Given the description of an element on the screen output the (x, y) to click on. 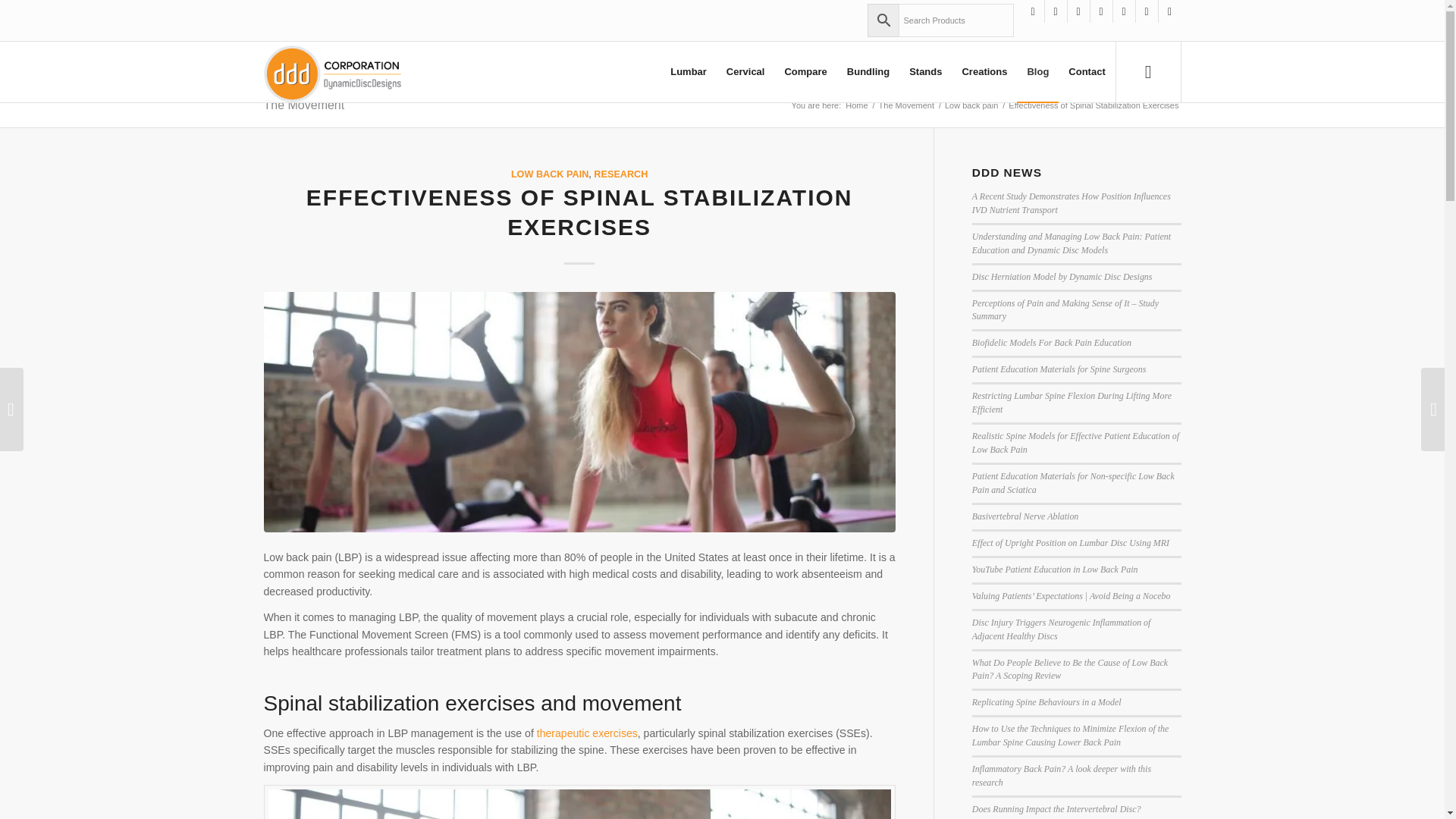
Lumbar (688, 71)
Rss (1124, 11)
Anatomical Features (804, 71)
Dynamic Disc Designs (856, 105)
WhatsApp (1169, 11)
X (1101, 11)
Cervical (745, 71)
LinkedIn (1146, 11)
Instagram (1032, 11)
Facebook (1056, 11)
Youtube (1078, 11)
Permanent Link: The Movement (304, 104)
